Given the description of an element on the screen output the (x, y) to click on. 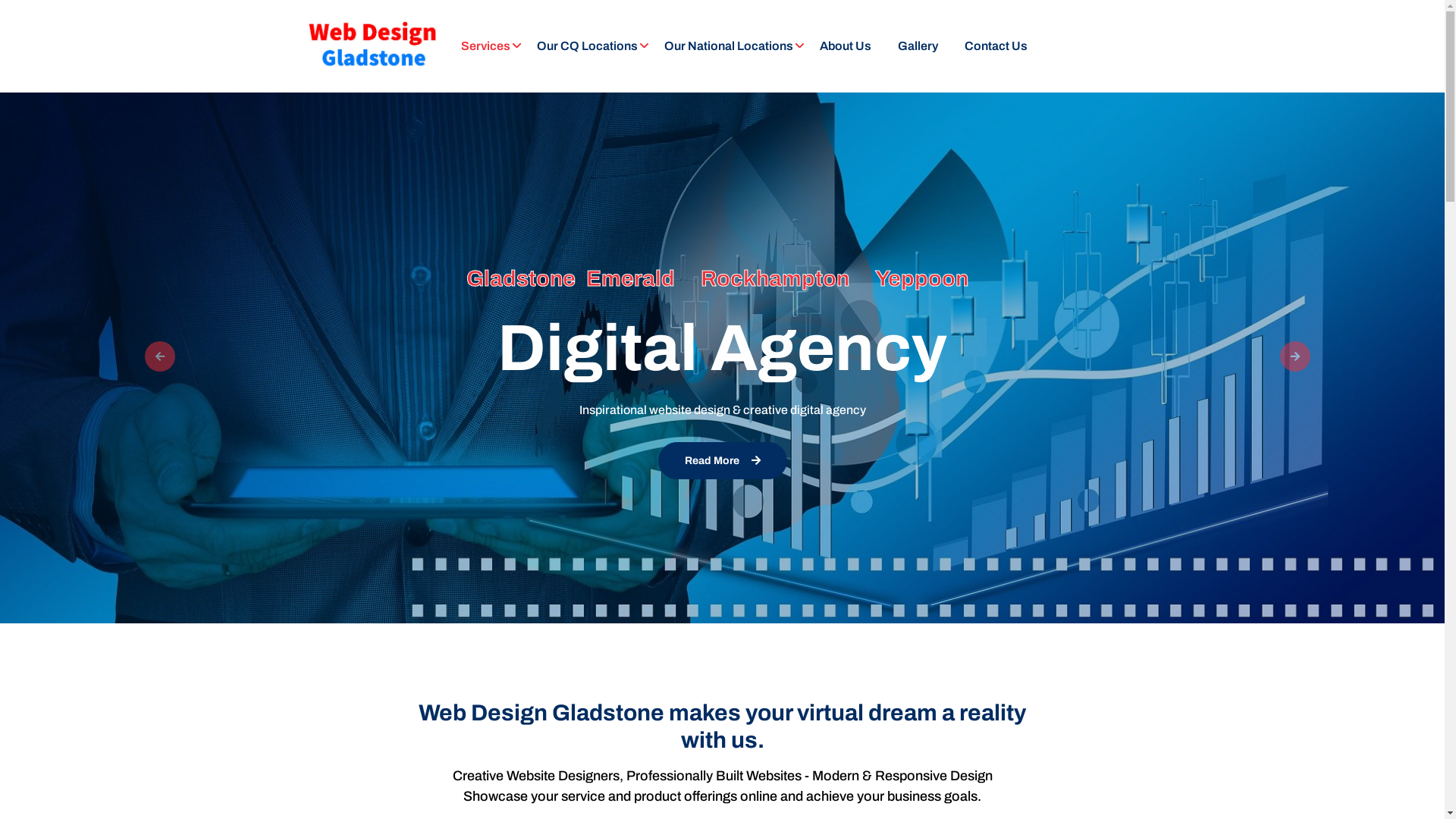
Our CQ Locations Element type: text (587, 45)
Read More Element type: text (722, 460)
Gladstone Element type: text (519, 278)
Services Element type: text (485, 45)
Rockhampton Element type: text (774, 278)
Contact Us Element type: text (996, 45)
About Us Element type: text (844, 45)
Gallery Element type: text (917, 45)
Yeppoon Element type: text (921, 278)
Web Design Gladstone Element type: hover (371, 46)
Emerald Element type: text (629, 278)
Our National Locations Element type: text (728, 45)
